Given the description of an element on the screen output the (x, y) to click on. 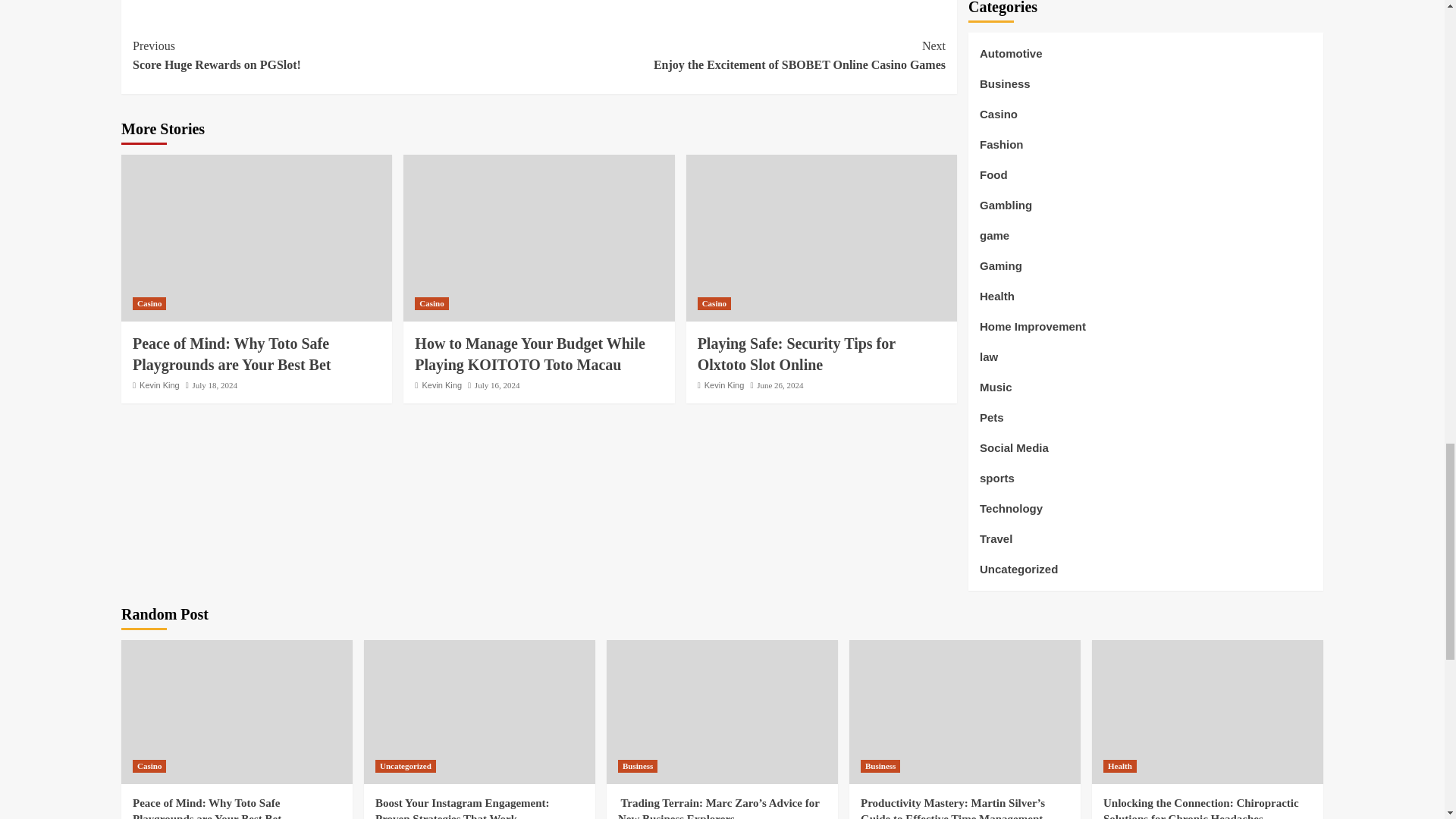
Casino (148, 303)
Playing Safe: Security Tips for Olxtoto Slot Online (796, 353)
Kevin King (724, 384)
Kevin King (441, 384)
Peace of Mind: Why Toto Safe Playgrounds are Your Best Bet (231, 353)
July 18, 2024 (215, 384)
Kevin King (159, 384)
July 16, 2024 (335, 55)
Casino (496, 384)
Casino (741, 55)
How to Manage Your Budget While Playing KOITOTO Toto Macau (431, 303)
June 26, 2024 (713, 303)
